Given the description of an element on the screen output the (x, y) to click on. 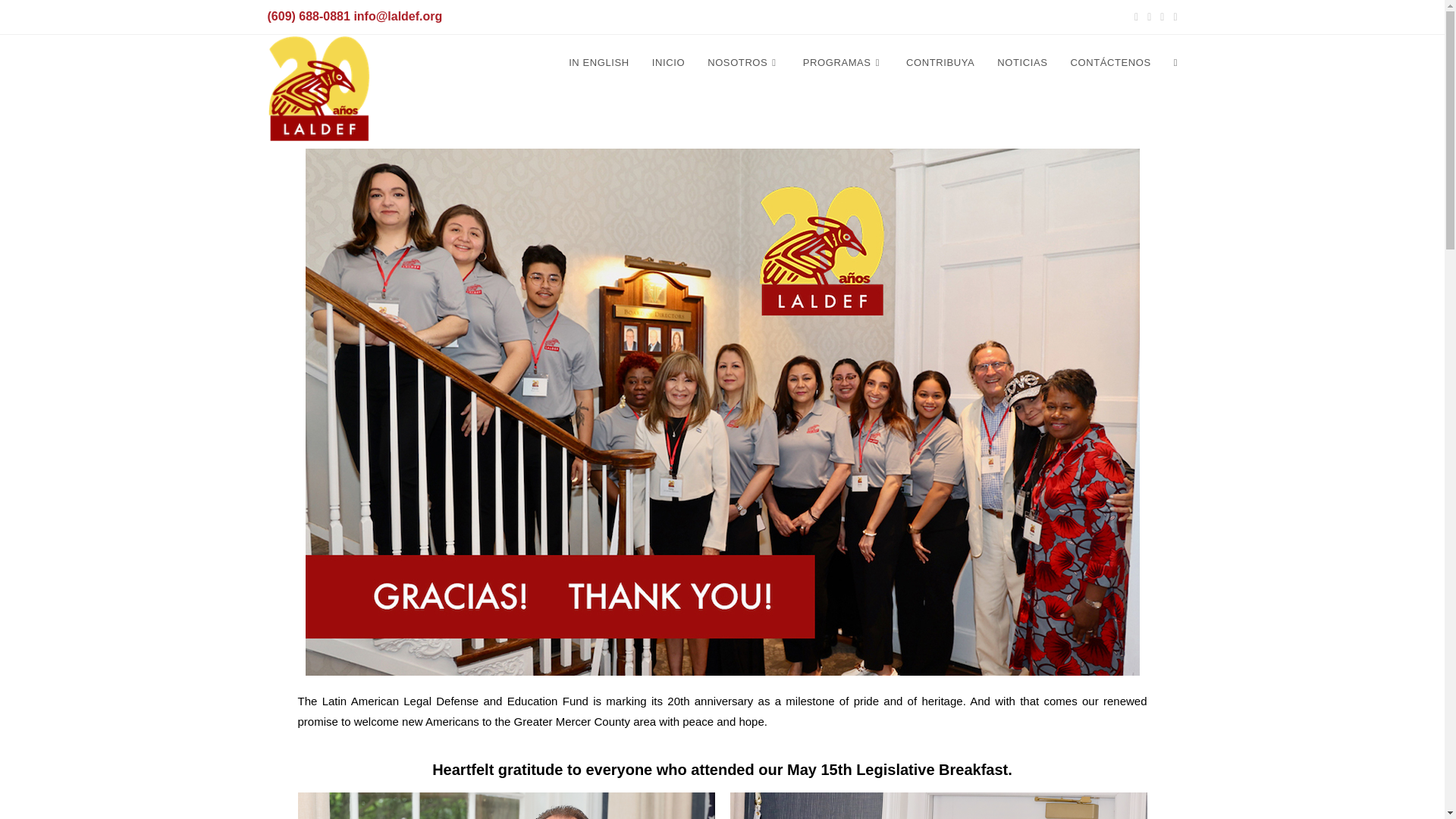
INICIO (667, 62)
CONTRIBUYA (940, 62)
NOTICIAS (1021, 62)
PROGRAMAS (843, 62)
IN ENGLISH (598, 62)
NOSOTROS (743, 62)
